Given the description of an element on the screen output the (x, y) to click on. 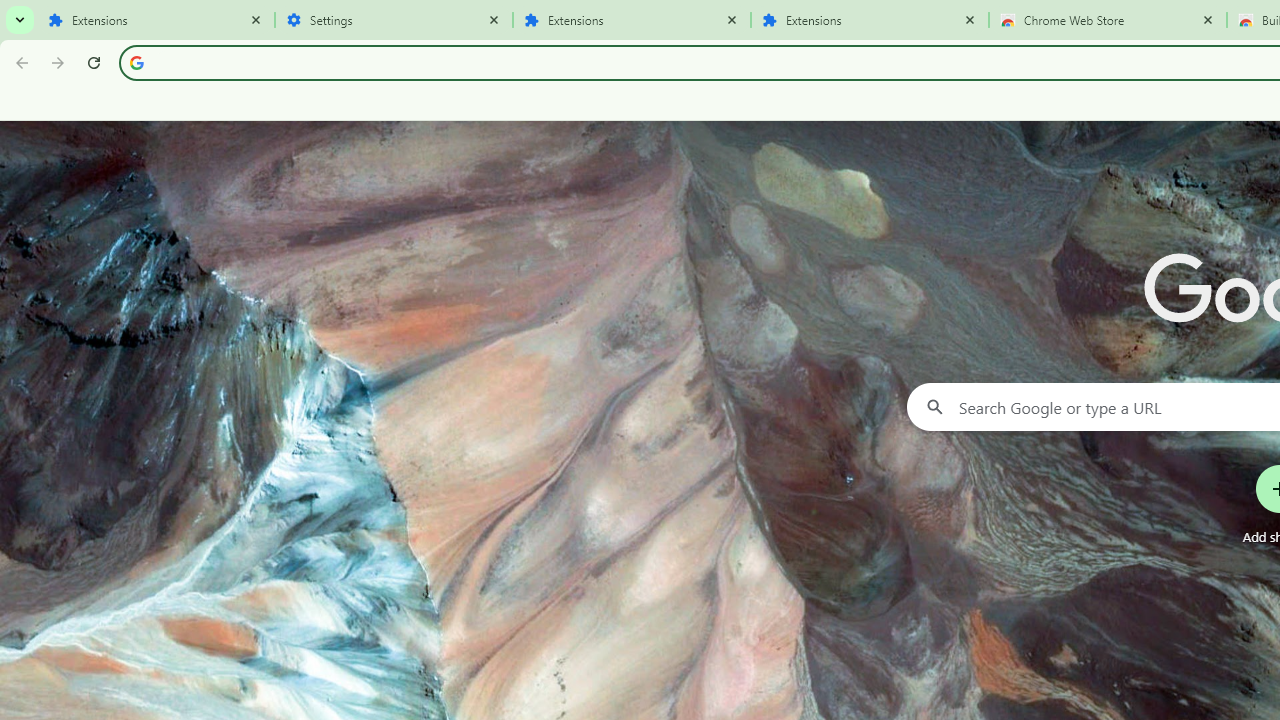
Settings (394, 20)
Extensions (870, 20)
Extensions (632, 20)
Extensions (156, 20)
Chrome Web Store (1108, 20)
Search icon (136, 62)
